Given the description of an element on the screen output the (x, y) to click on. 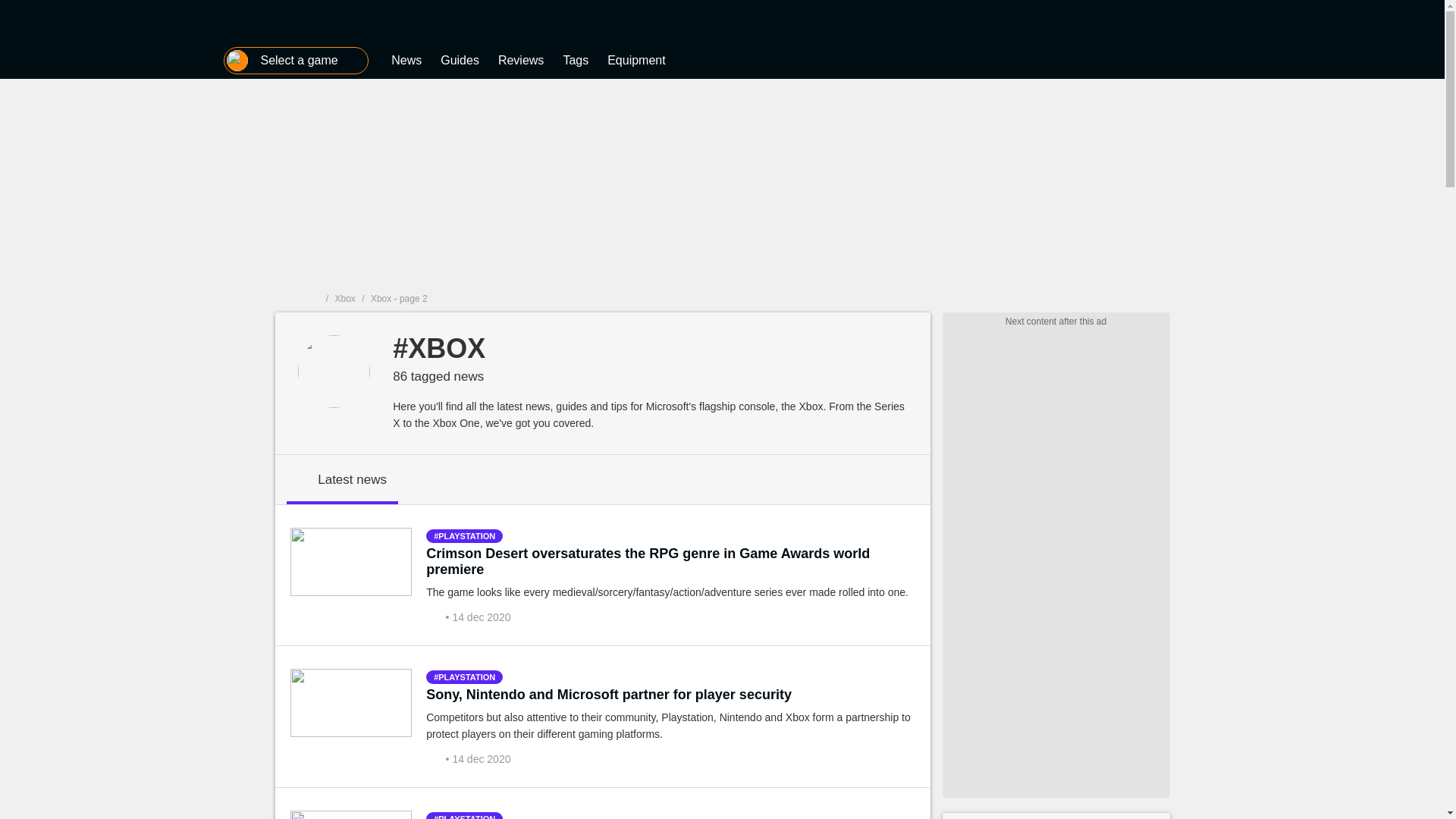
Sony, Nintendo and Microsoft partner for player security (609, 694)
Select a game (296, 60)
Xbox (344, 298)
PLAYSTATION (464, 535)
